Given the description of an element on the screen output the (x, y) to click on. 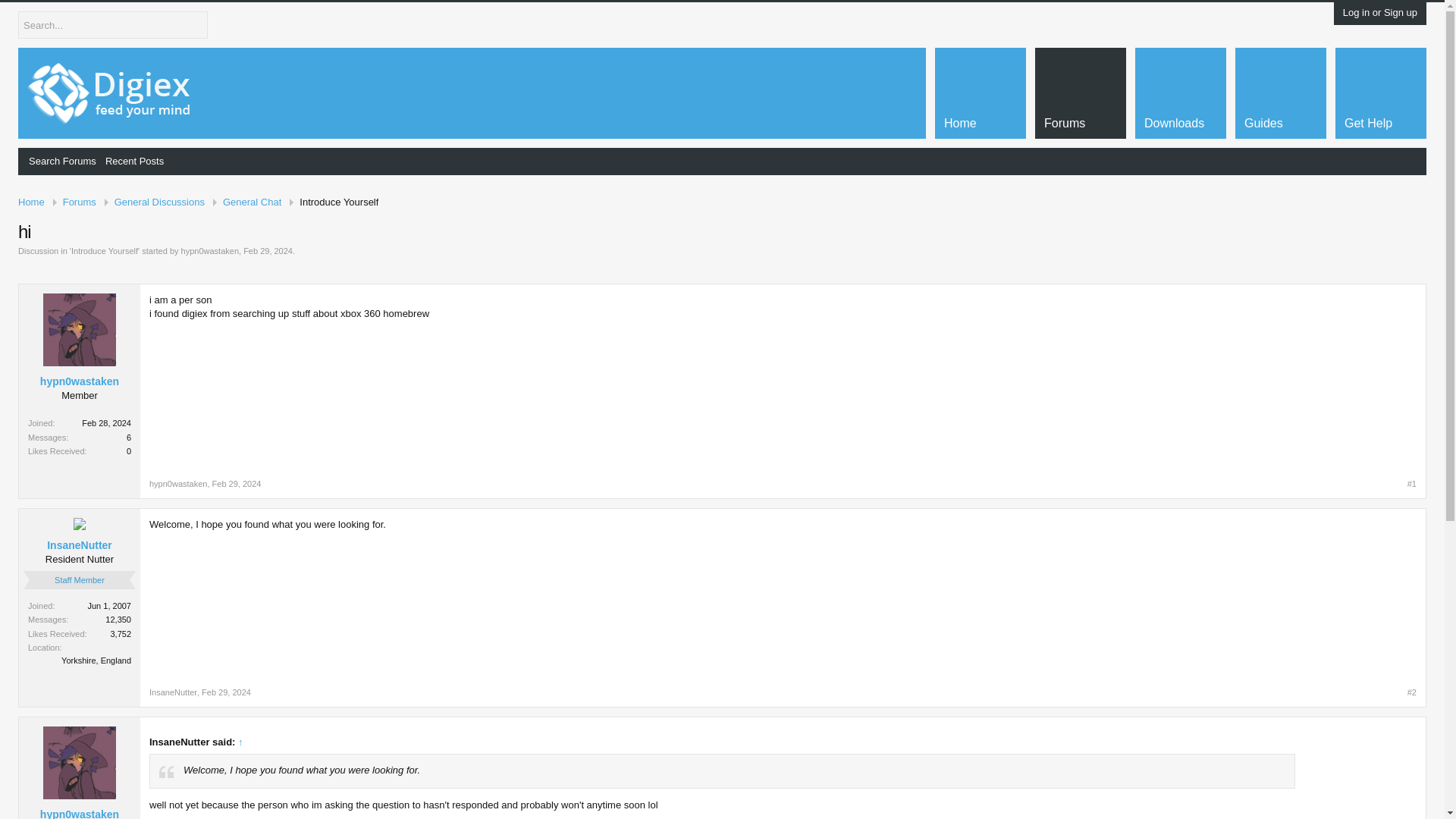
hypn0wastaken (79, 381)
Home (35, 202)
Feb 29, 2024 (226, 691)
Yorkshire, England (96, 660)
General Chat (251, 202)
Feb 29, 2024 (237, 483)
Log in or Sign up (1379, 12)
Open quick navigation (1417, 202)
Introduce Yourself (333, 202)
General Discussions (159, 202)
Permalink (226, 691)
InsaneNutter (79, 544)
hypn0wastaken (209, 250)
Enter your search and hit enter (112, 24)
hypn0wastaken (177, 483)
